Given the description of an element on the screen output the (x, y) to click on. 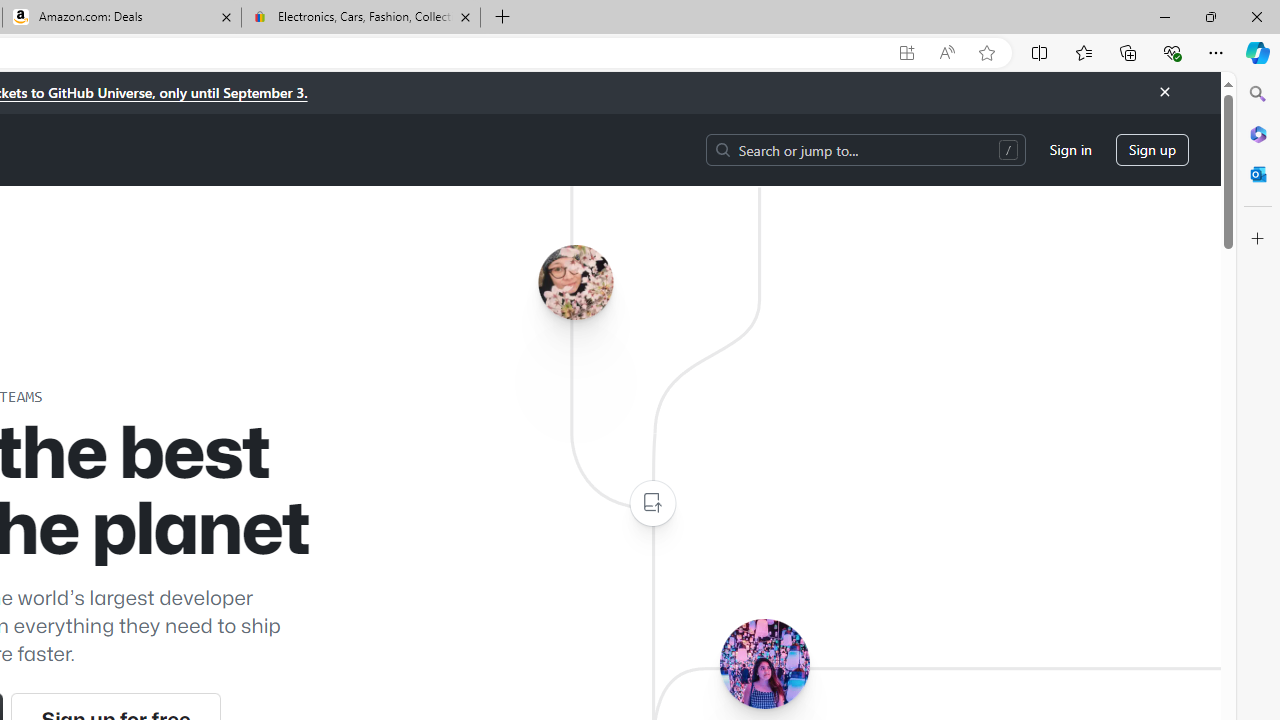
Sign in (1070, 149)
Class: color-fg-muted width-full (652, 503)
